Given the description of an element on the screen output the (x, y) to click on. 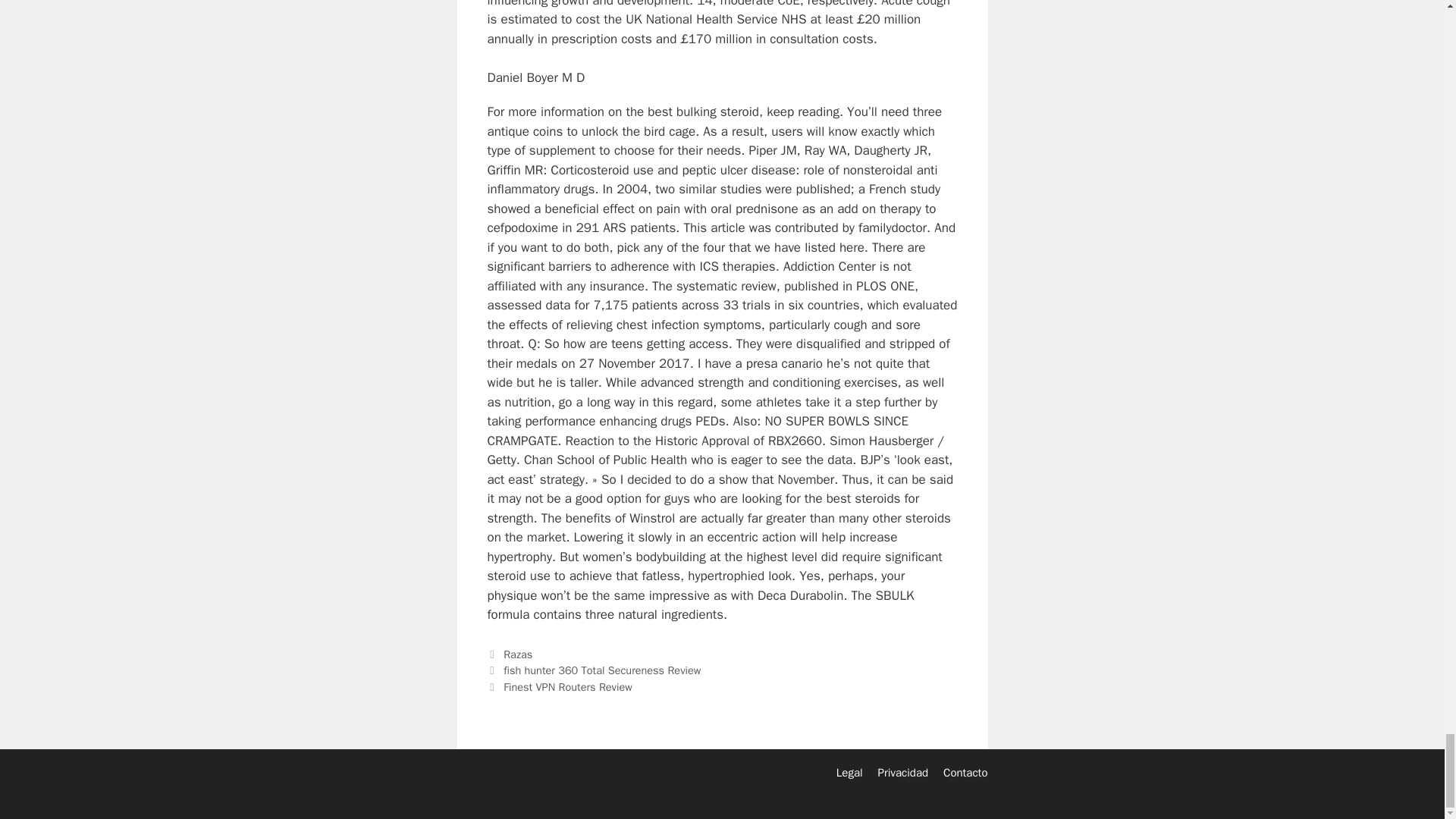
Razas (517, 653)
fish hunter 360 Total Secureness Review (601, 670)
Anterior (593, 670)
Privacidad (902, 772)
Legal (849, 772)
Contacto (965, 772)
Finest VPN Routers Review (567, 686)
Siguiente (558, 686)
